Given the description of an element on the screen output the (x, y) to click on. 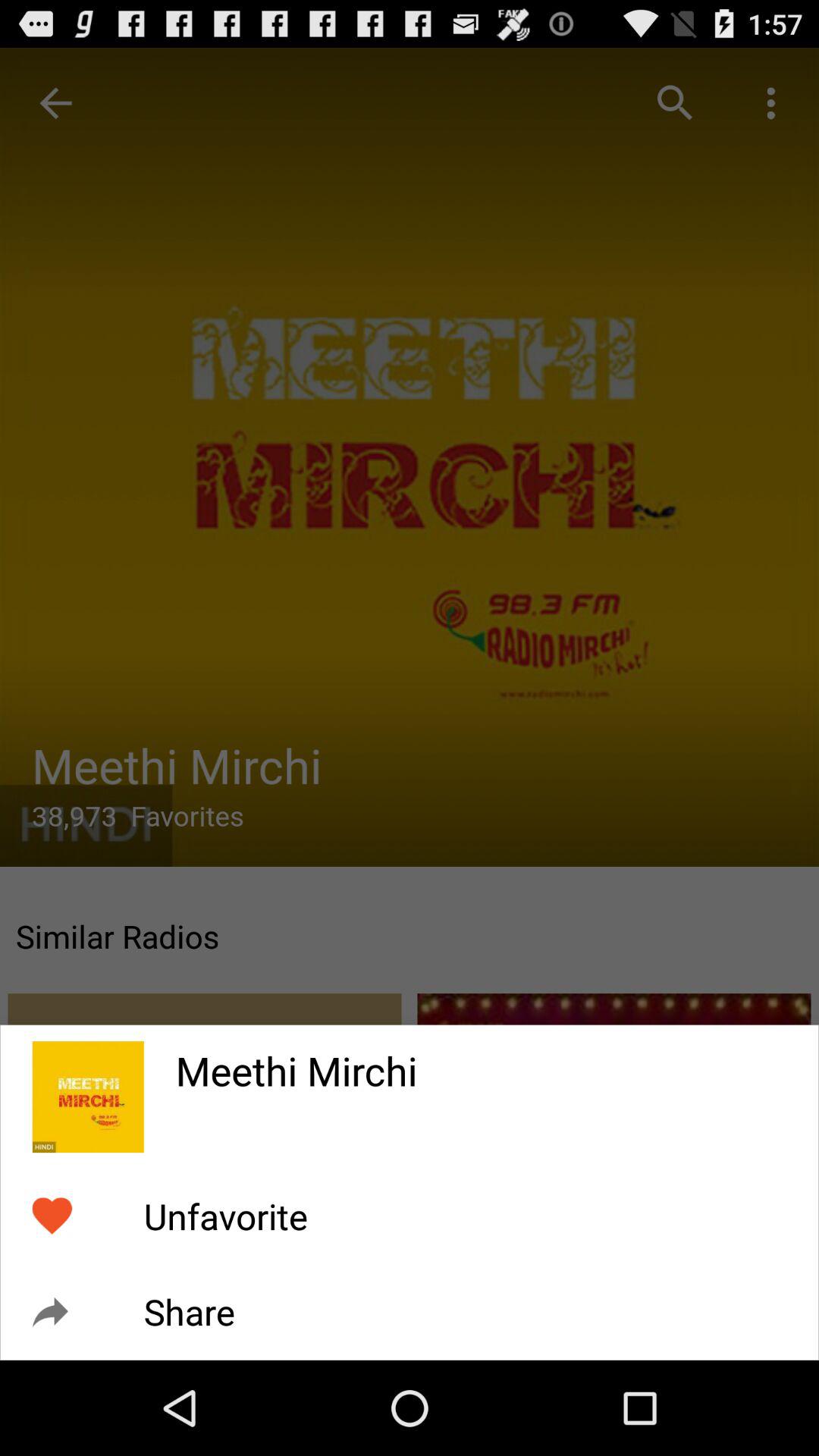
select icon next to meethi mirchi (87, 1096)
